Given the description of an element on the screen output the (x, y) to click on. 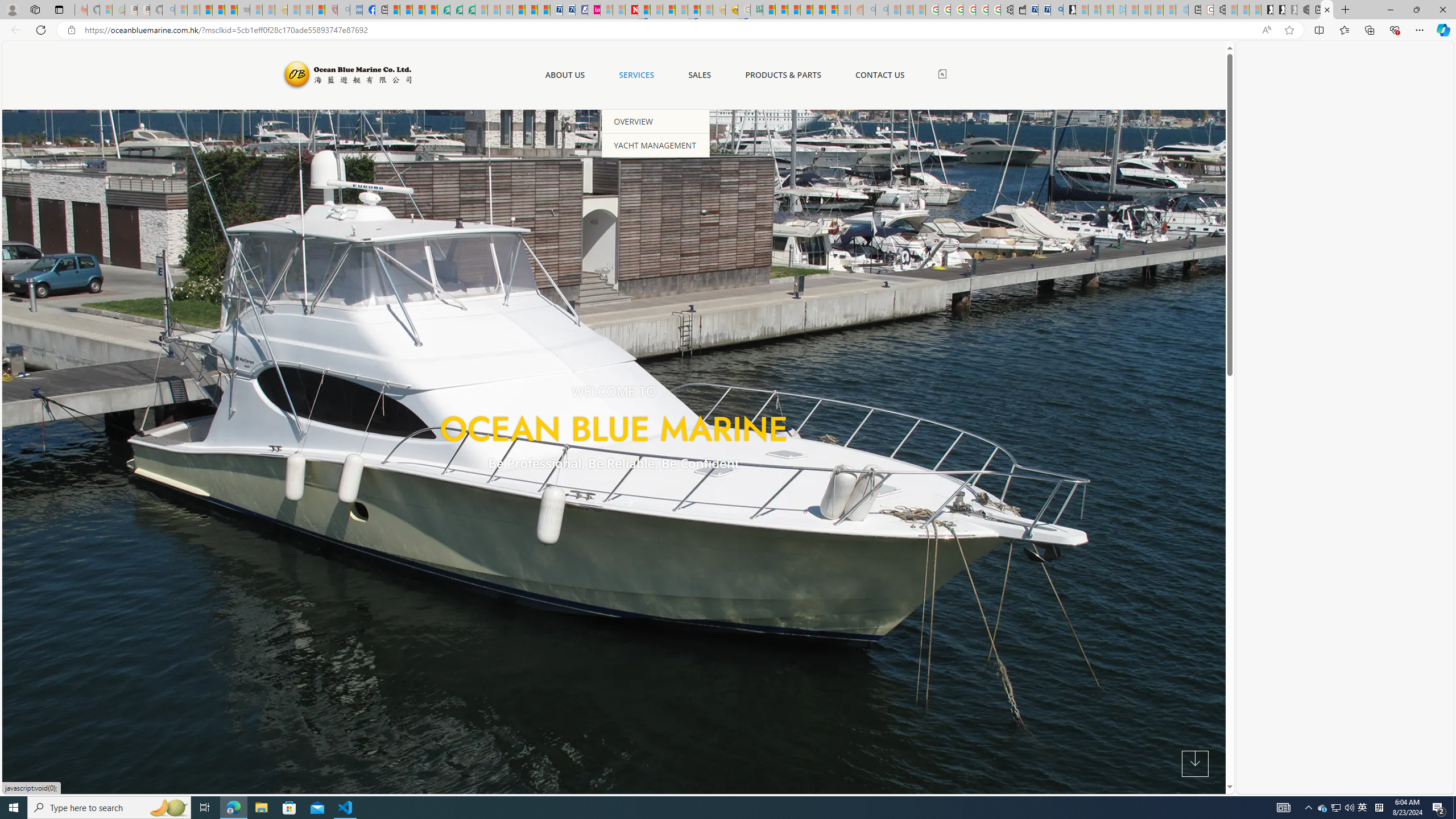
Previous Slide (596, 501)
Cheap Hotels - Save70.com (568, 9)
CONTACT US (879, 75)
Kinda Frugal - MSN (818, 9)
